Given the description of an element on the screen output the (x, y) to click on. 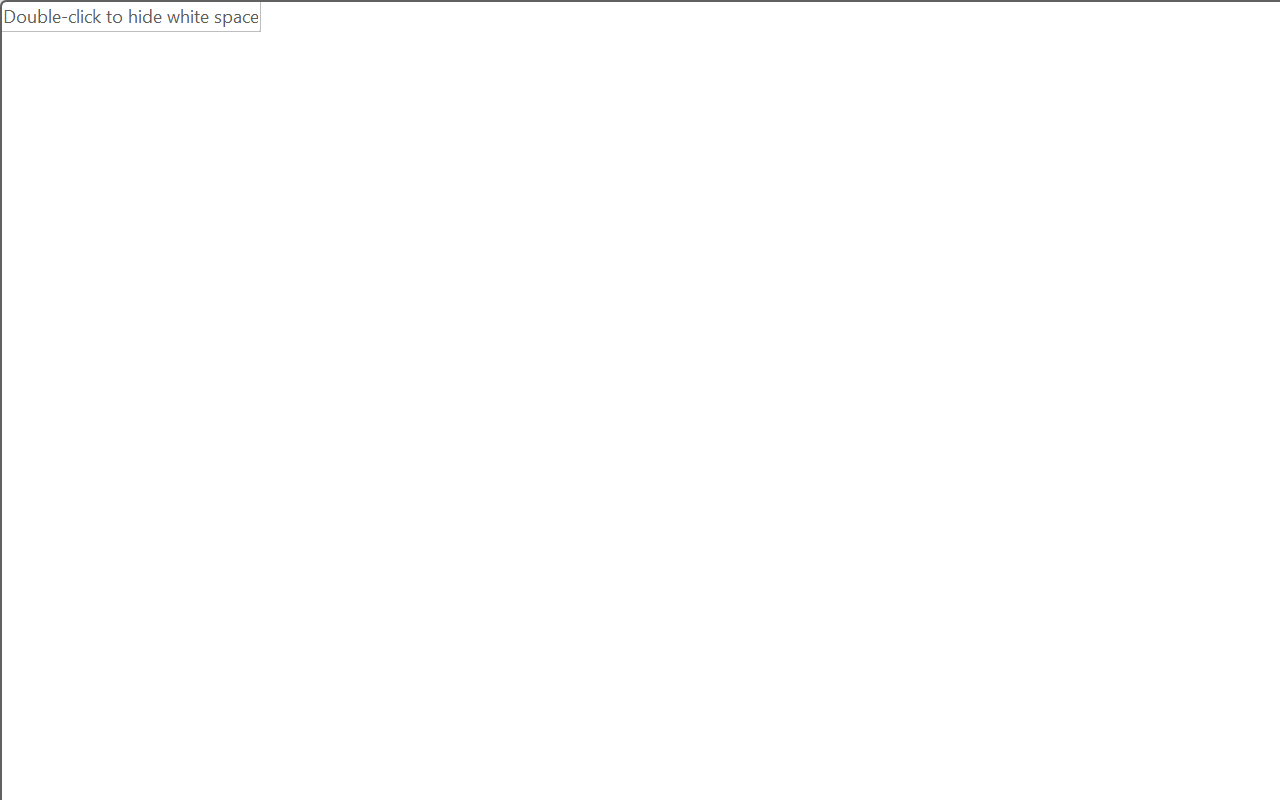
Open (399, 152)
Show/Hide Editing Marks (1098, 153)
Bold (172, 201)
Change Case (524, 153)
Superscript (390, 201)
Phonetic Guide... (618, 153)
Character Border (656, 153)
Font... (675, 252)
Multilevel List (850, 153)
Align Left (716, 201)
